Given the description of an element on the screen output the (x, y) to click on. 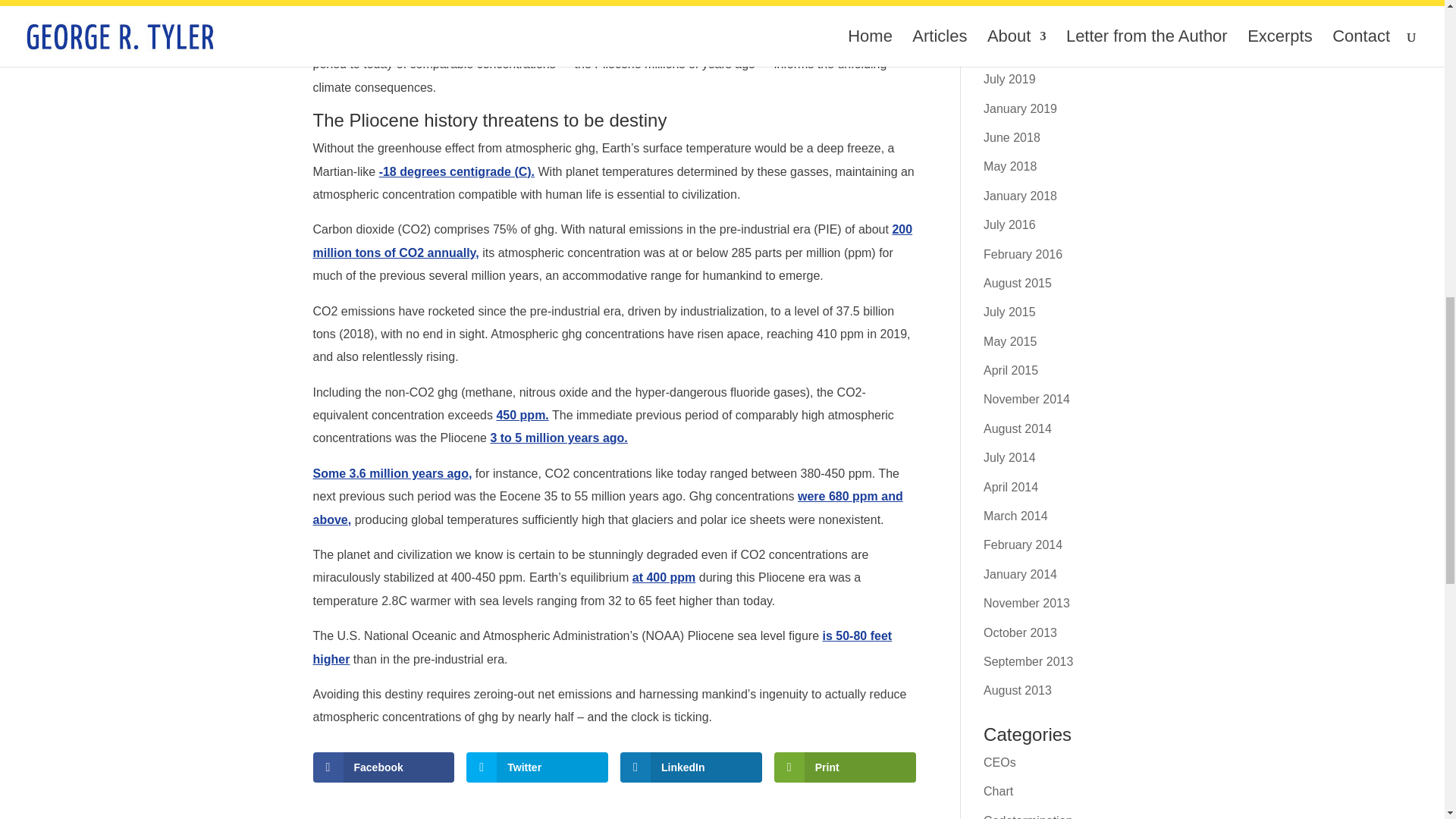
Some 3.6 million years ago, (392, 472)
at 400 ppm (663, 576)
200 million tons of CO2 annually, (612, 240)
LinkedIn (690, 767)
Print (844, 767)
Facebook (383, 767)
is 50-80 feet higher (602, 647)
were 680 ppm and above, (607, 507)
3 to 5 million years ago. (558, 437)
450 ppm. (522, 414)
